Given the description of an element on the screen output the (x, y) to click on. 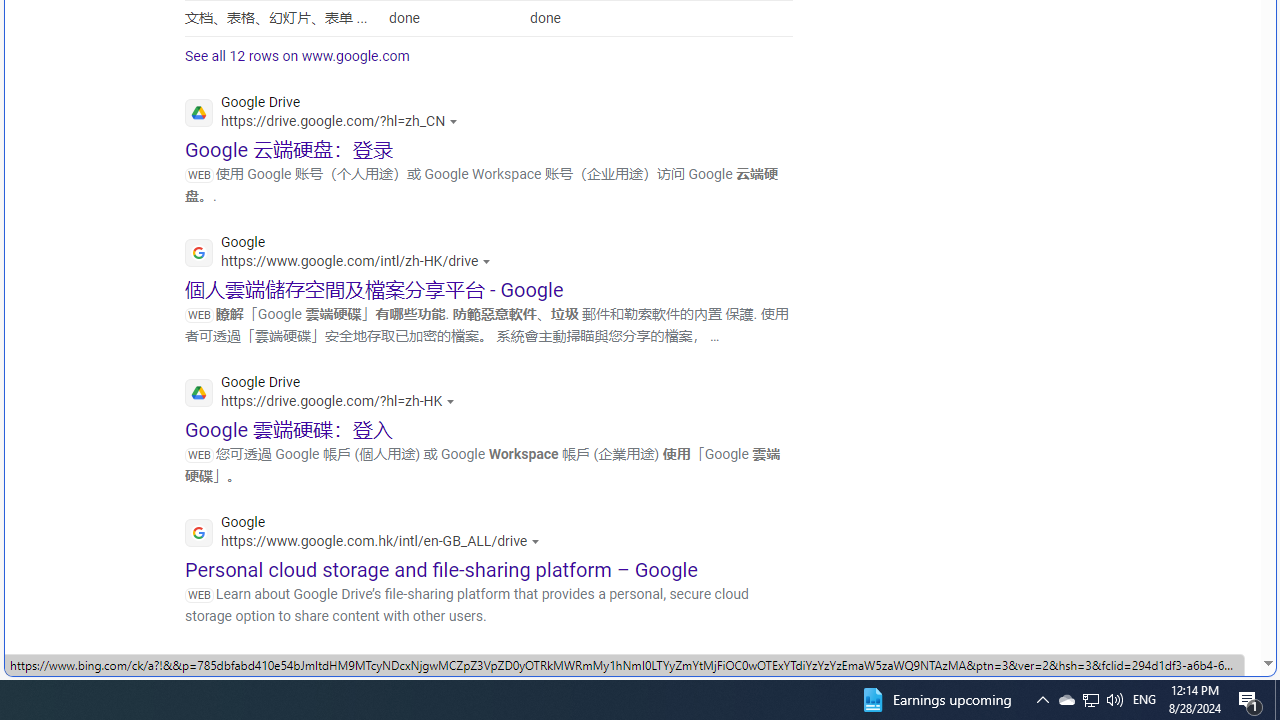
Google (367, 534)
Search more (1222, 604)
Global web icon (198, 673)
Google Workspace (392, 674)
Actions for this site (588, 681)
Google Drive (325, 394)
AutomationID: mfa_root (1192, 603)
